Given the description of an element on the screen output the (x, y) to click on. 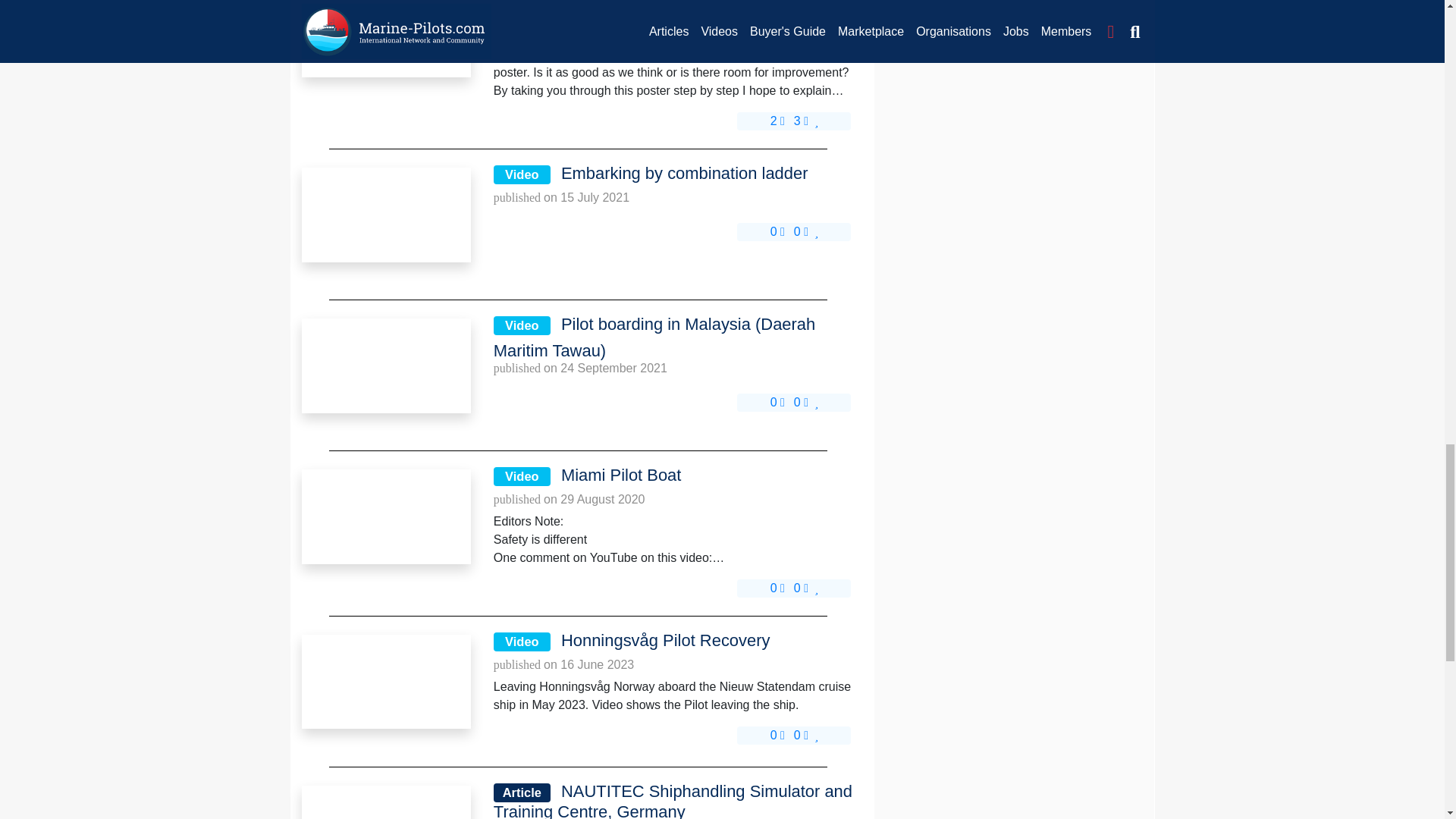
The IMPA Pilot Ladder Poster: Suggestions for Improvements  (674, 9)
The IMPA Pilot Ladder Poster: Suggestions for Improvements  (385, 29)
Miami Pilot Boat (385, 516)
Embarking by combination ladder (385, 214)
NAUTITEC Shiphandling Simulator and Training Centre, Germany (385, 802)
The IMPA Pilot Ladder Poster: Suggestions for Improvements  (385, 38)
